Given the description of an element on the screen output the (x, y) to click on. 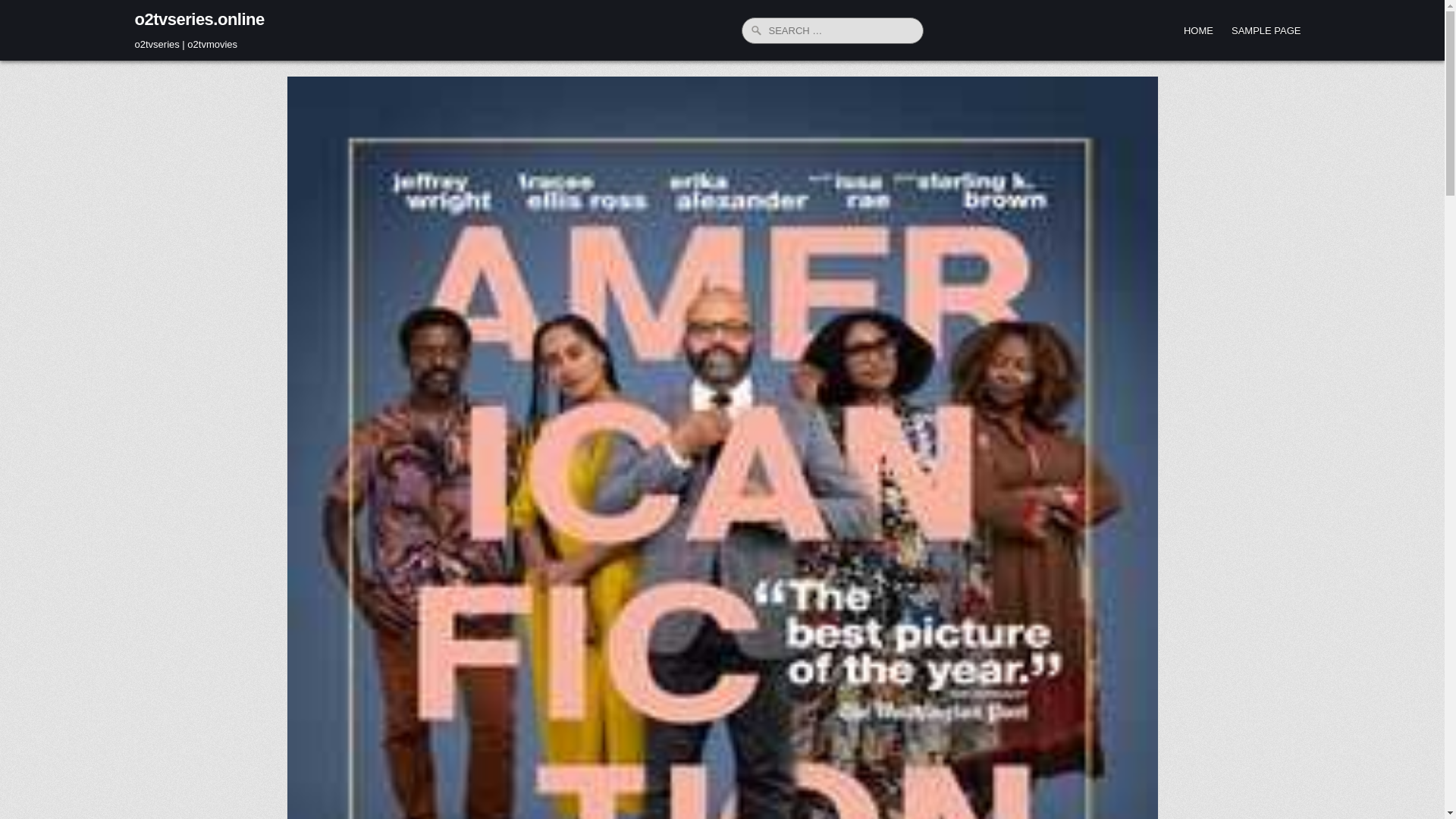
o2tvseries.online (199, 18)
SAMPLE PAGE (1266, 30)
HOME (1198, 30)
